Given the description of an element on the screen output the (x, y) to click on. 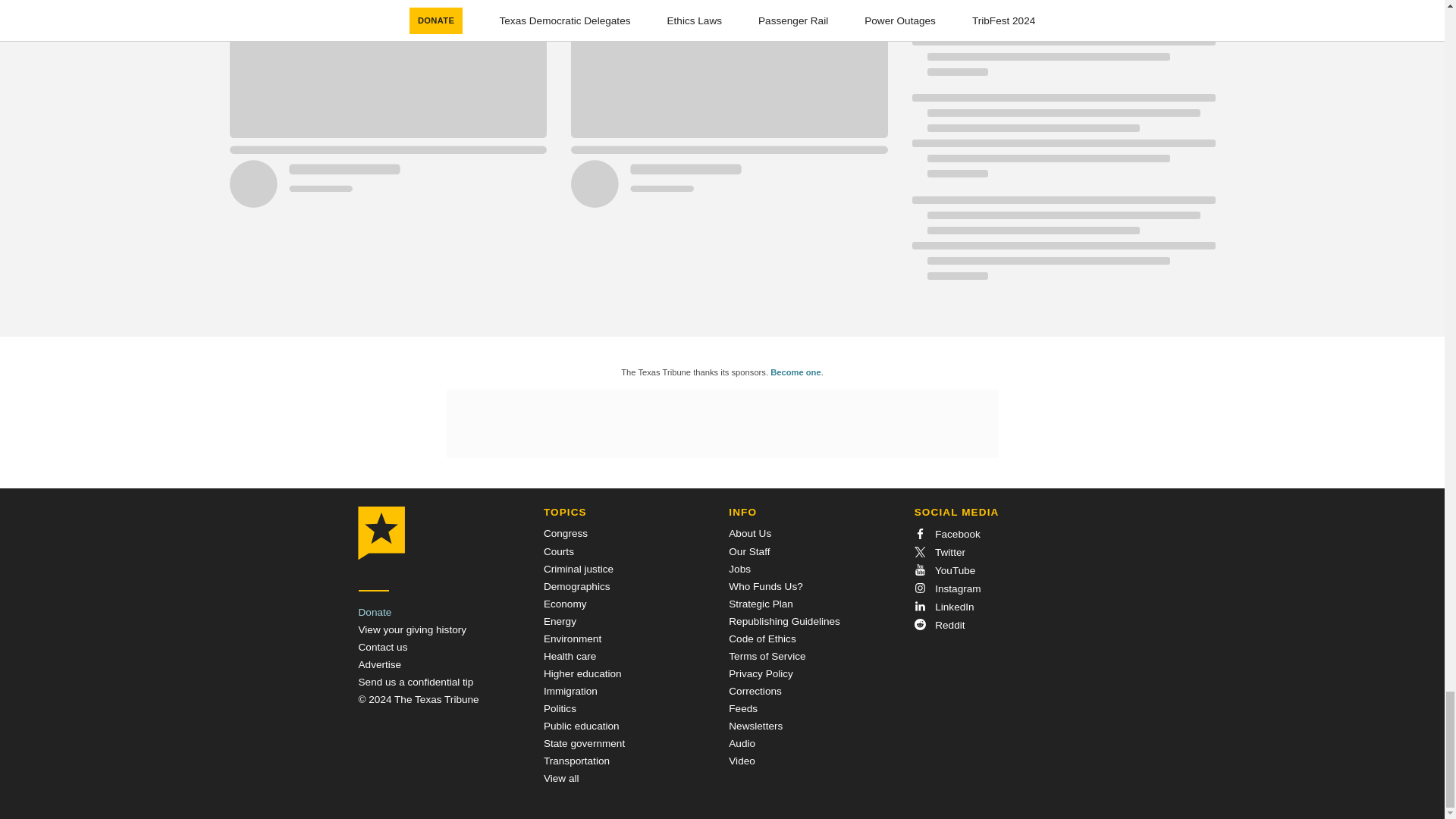
Republishing Guidelines (784, 621)
Corrections (755, 690)
About Us (750, 532)
View your giving history (411, 629)
Feeds (743, 708)
Privacy Policy (761, 673)
Newsletters (756, 726)
Audio (742, 743)
Send a Tip (415, 681)
Advertise (379, 664)
Code of Ethics (761, 638)
Contact us (382, 646)
Who Funds Us? (765, 586)
Strategic Plan (761, 603)
Donate (374, 612)
